Given the description of an element on the screen output the (x, y) to click on. 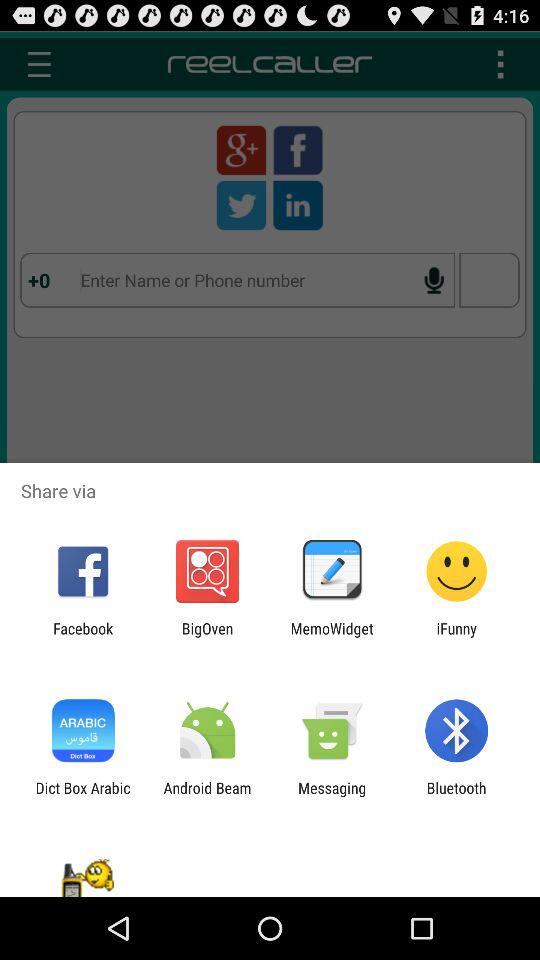
turn on the item to the right of the android beam (332, 796)
